Given the description of an element on the screen output the (x, y) to click on. 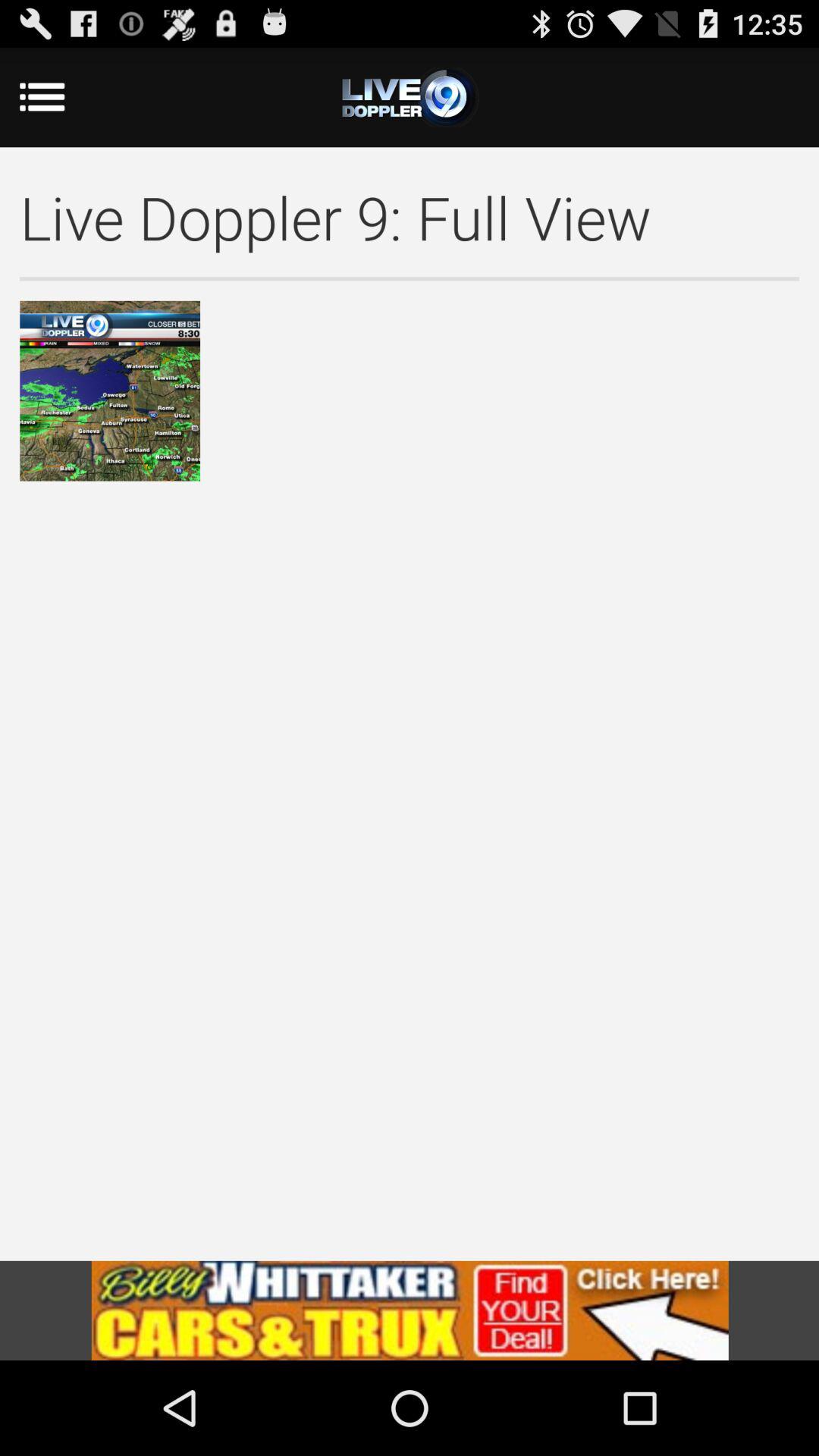
see the live doppler (409, 97)
